Given the description of an element on the screen output the (x, y) to click on. 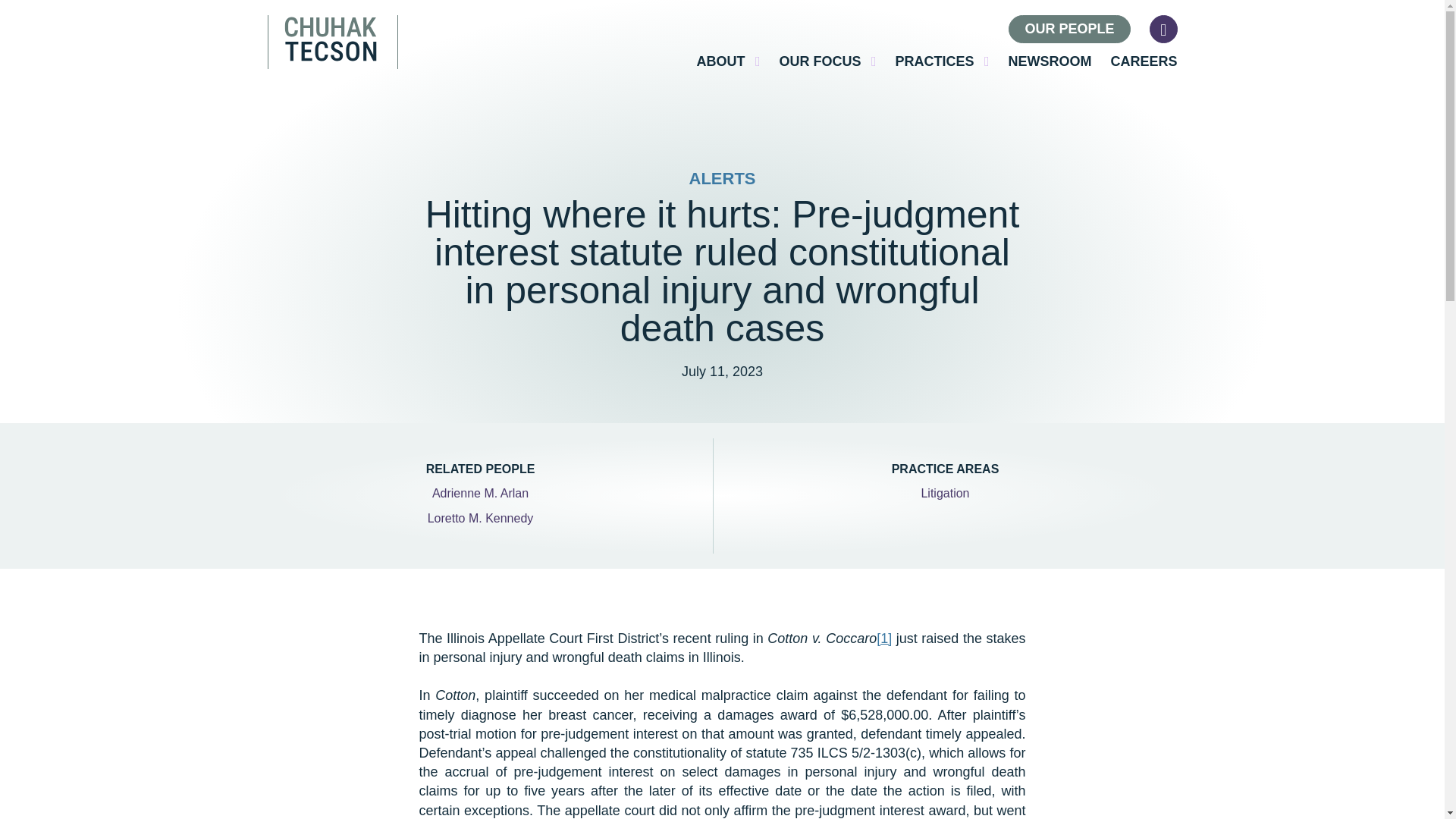
Adrienne M. Arlan (480, 493)
CAREERS (1142, 60)
OUR FOCUS (827, 60)
PRACTICES (941, 60)
OUR PEOPLE (1069, 28)
ABOUT (727, 60)
Loretto M. Kennedy (481, 518)
Litigation (944, 493)
NEWSROOM (1048, 60)
